Given the description of an element on the screen output the (x, y) to click on. 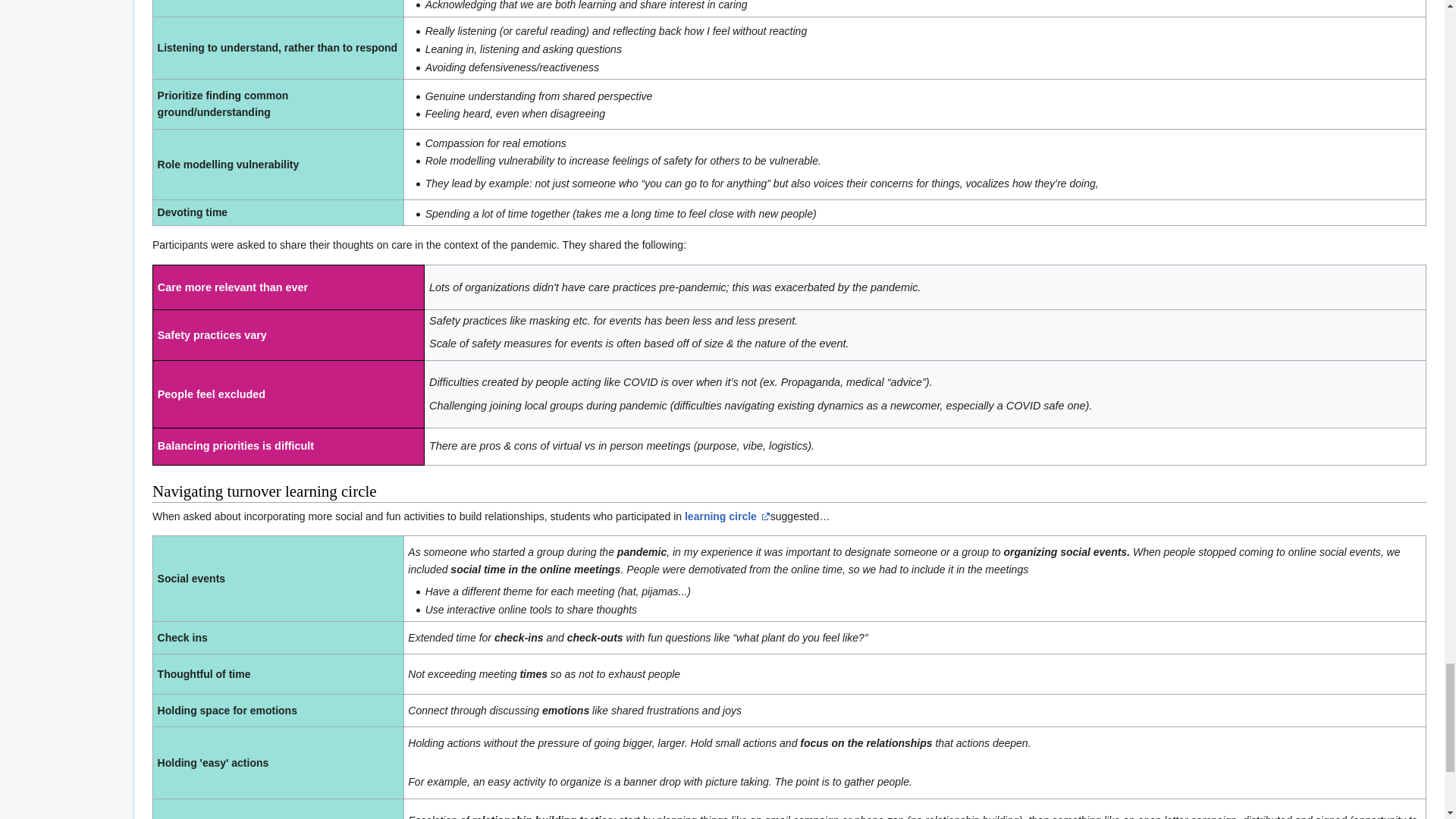
learning circle (727, 516)
